Given the description of an element on the screen output the (x, y) to click on. 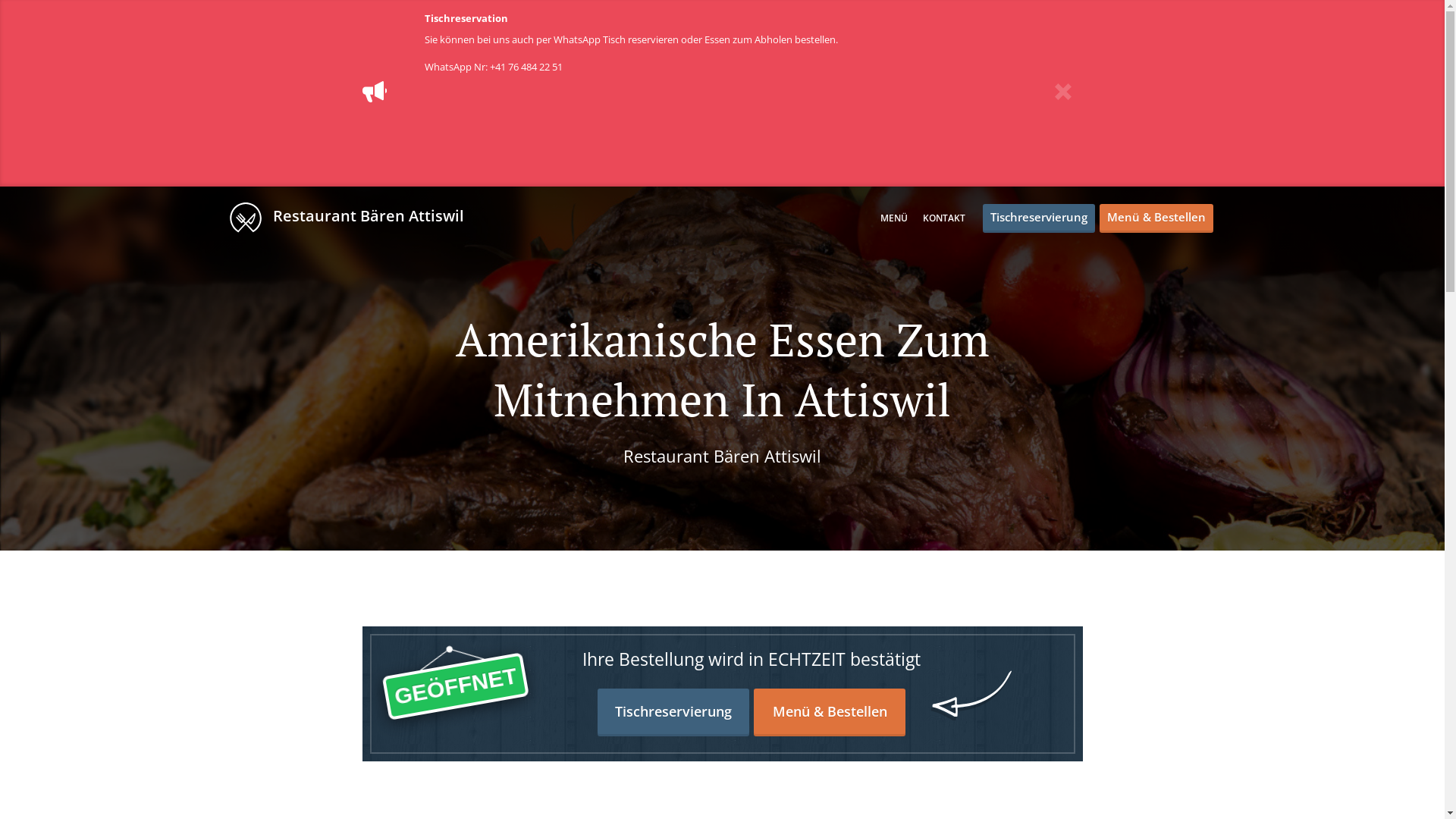
KONTAKT Element type: text (943, 217)
